Given the description of an element on the screen output the (x, y) to click on. 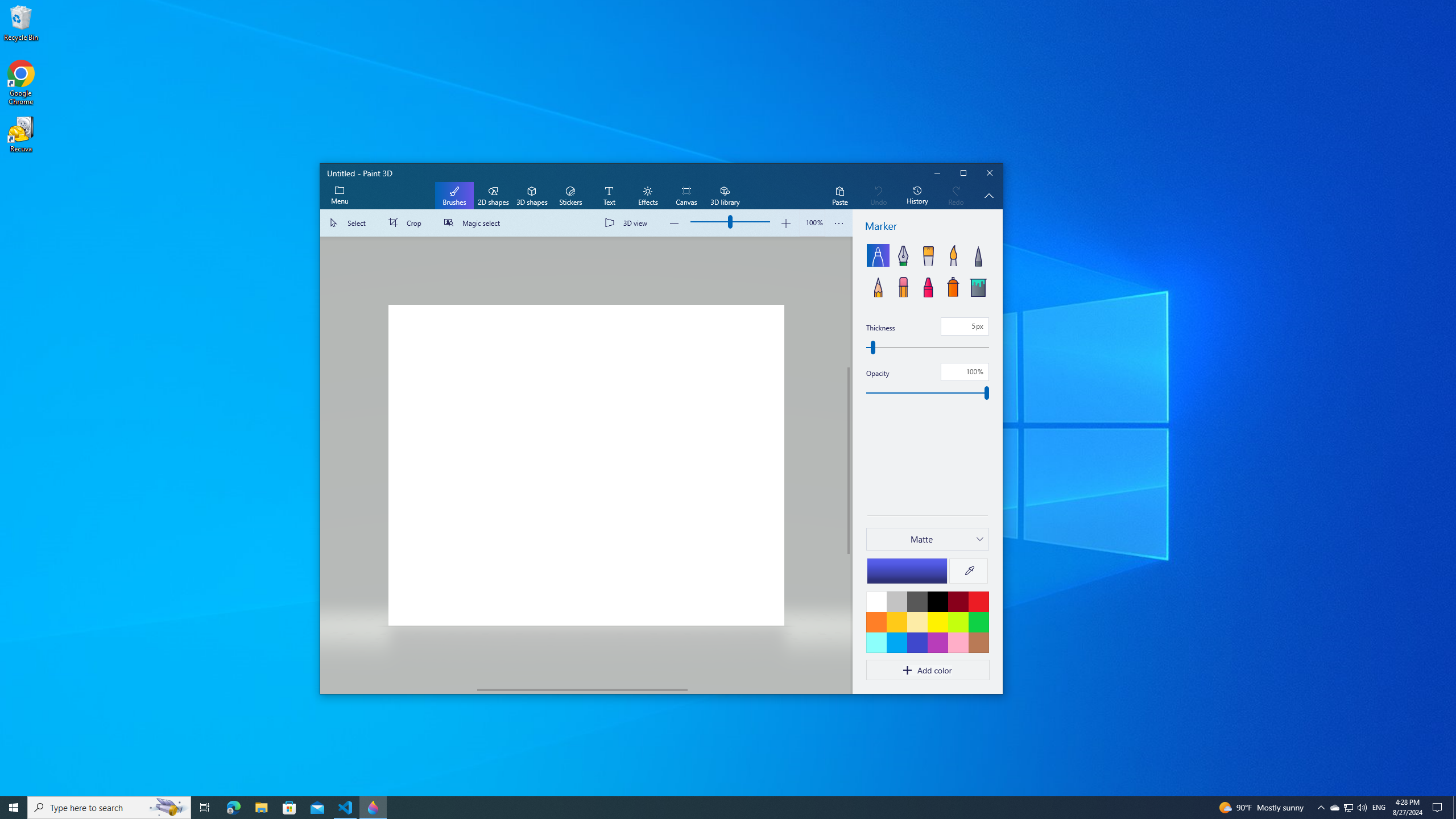
Horizontal (582, 689)
Brushes (454, 195)
Red (978, 601)
Hide description (989, 195)
Choose a material (927, 538)
White (876, 601)
Oil brush (928, 255)
Pink (937, 642)
Crayon (928, 285)
Gold (896, 621)
Light grey (896, 601)
Horizontal Large Increase (765, 689)
